Given the description of an element on the screen output the (x, y) to click on. 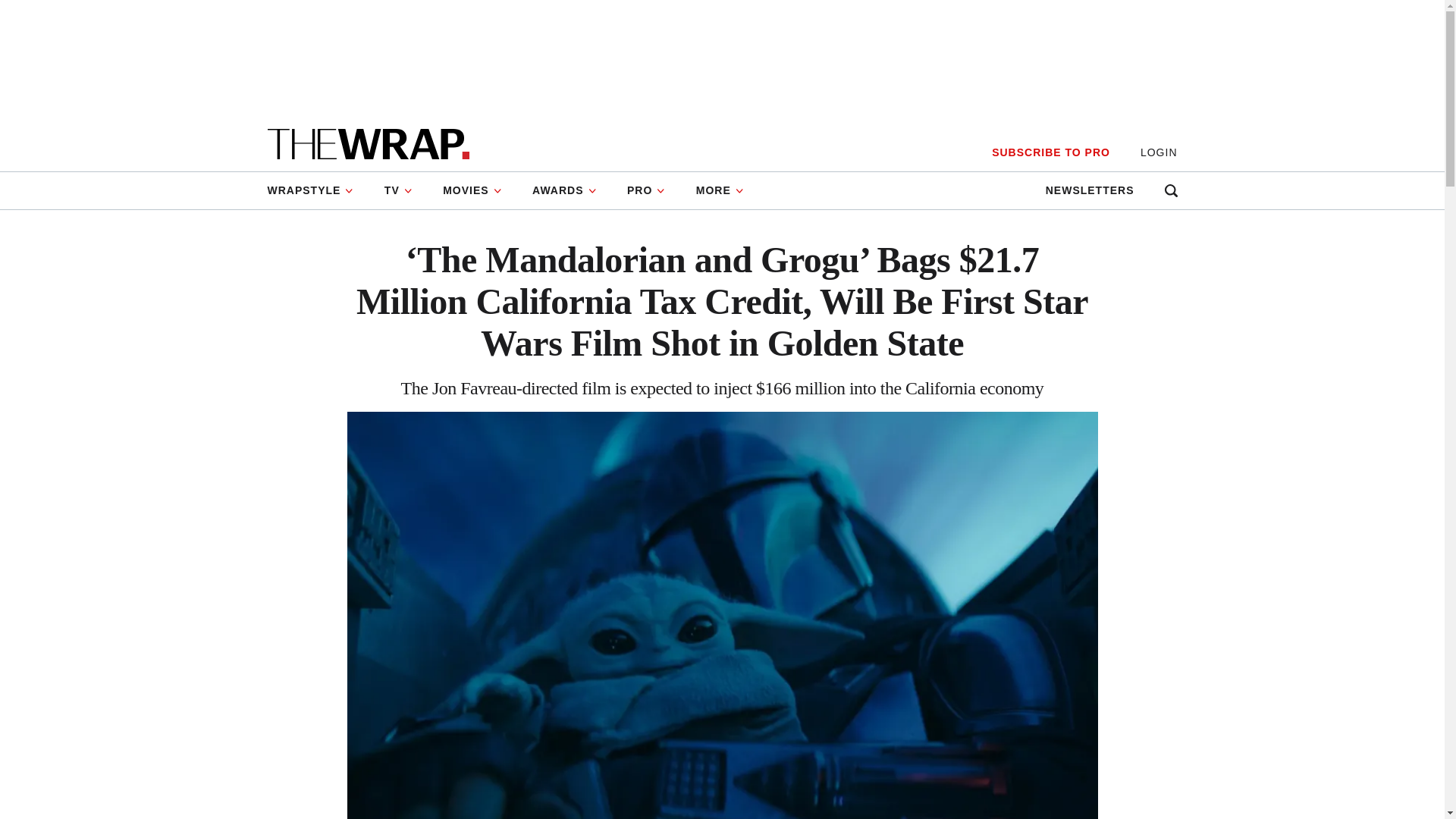
LOGIN (1158, 152)
MOVIES (472, 190)
WRAPSTYLE (317, 190)
MORE (719, 190)
TV (398, 190)
PRO (646, 190)
AWARDS (563, 190)
SUBSCRIBE TO PRO (1050, 152)
